Given the description of an element on the screen output the (x, y) to click on. 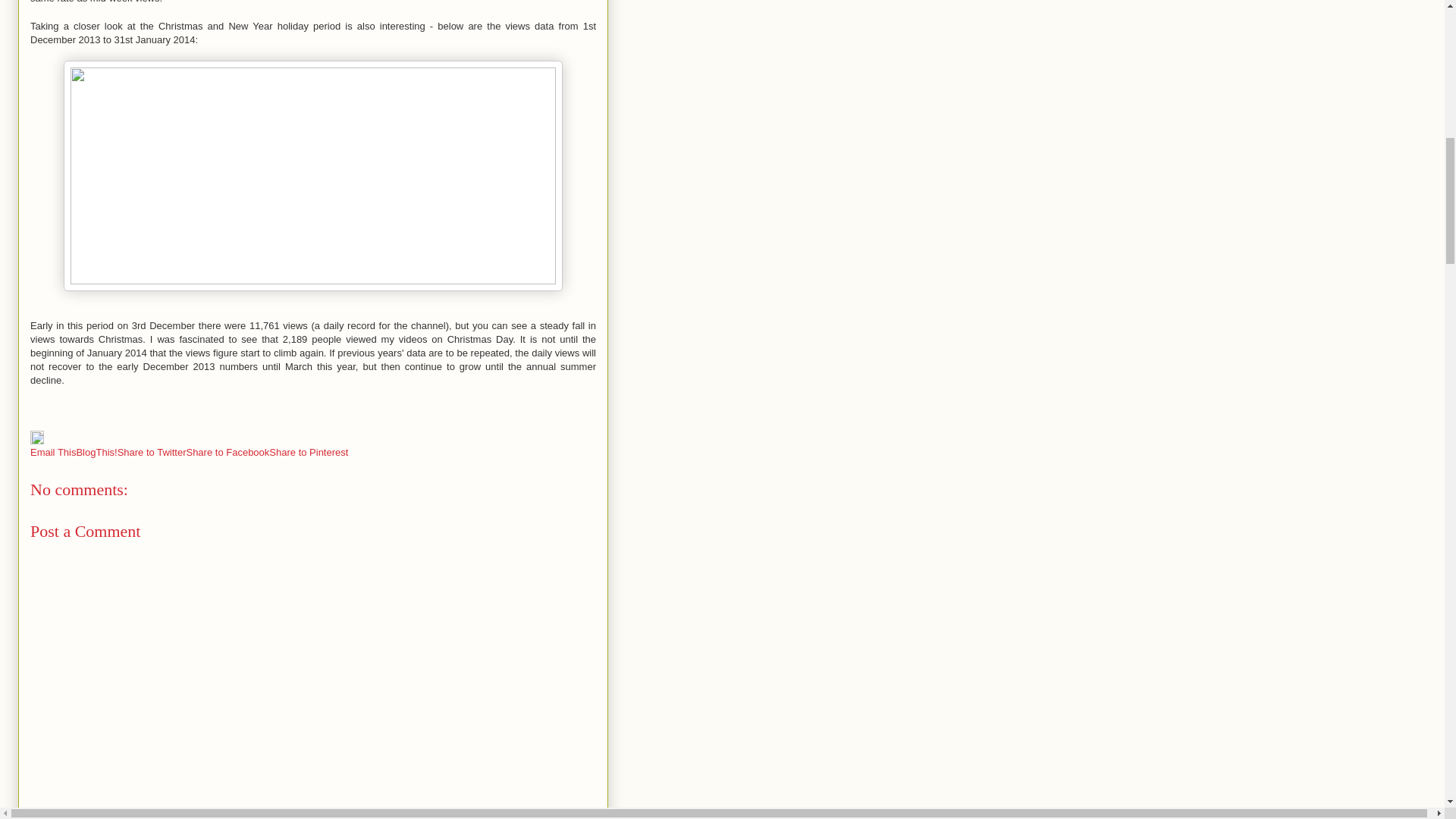
Share to Facebook (227, 451)
Share to Facebook (227, 451)
BlogThis! (95, 451)
BlogThis! (95, 451)
Edit Post (36, 440)
Share to Twitter (151, 451)
Email This (52, 451)
Share to Pinterest (308, 451)
Share to Twitter (151, 451)
Share to Pinterest (308, 451)
Email This (52, 451)
